Given the description of an element on the screen output the (x, y) to click on. 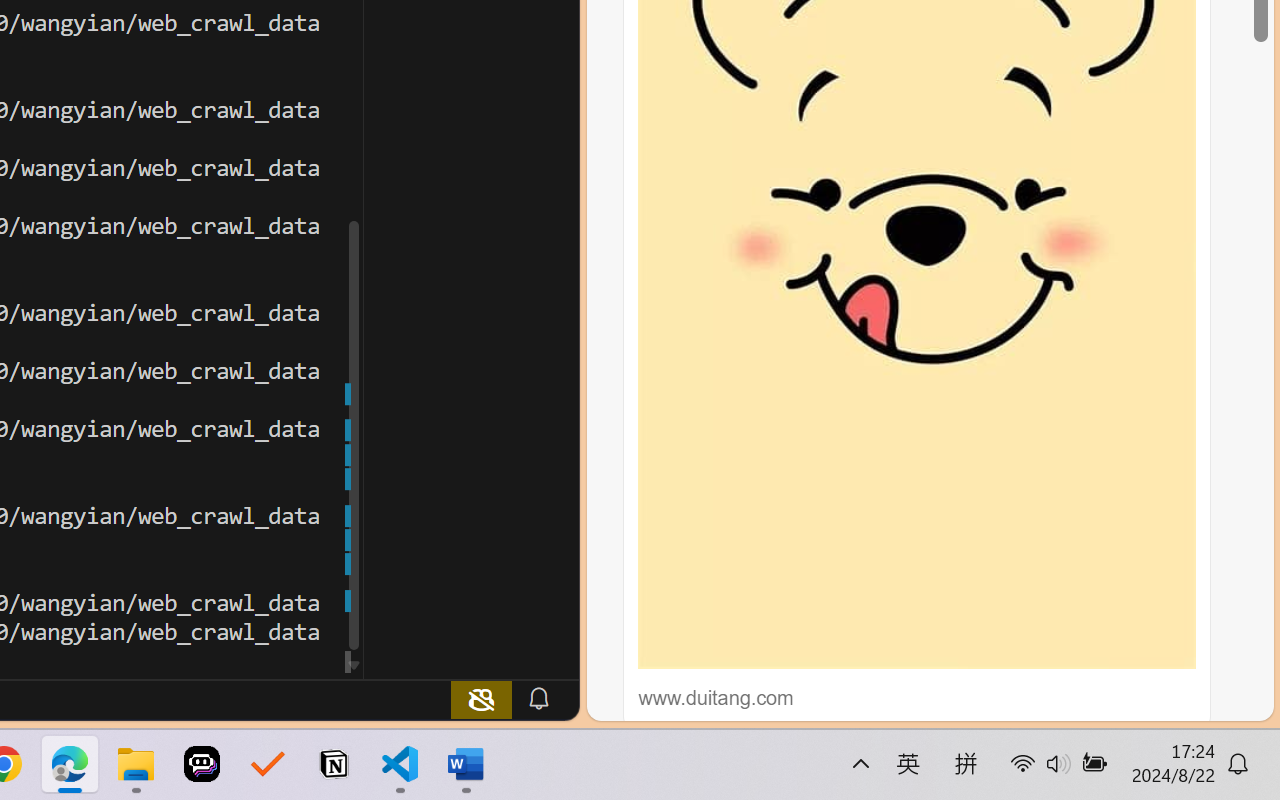
Slide Show Next On (1092, 743)
Menu On (1060, 743)
Slide Show Previous On (1028, 743)
